Given the description of an element on the screen output the (x, y) to click on. 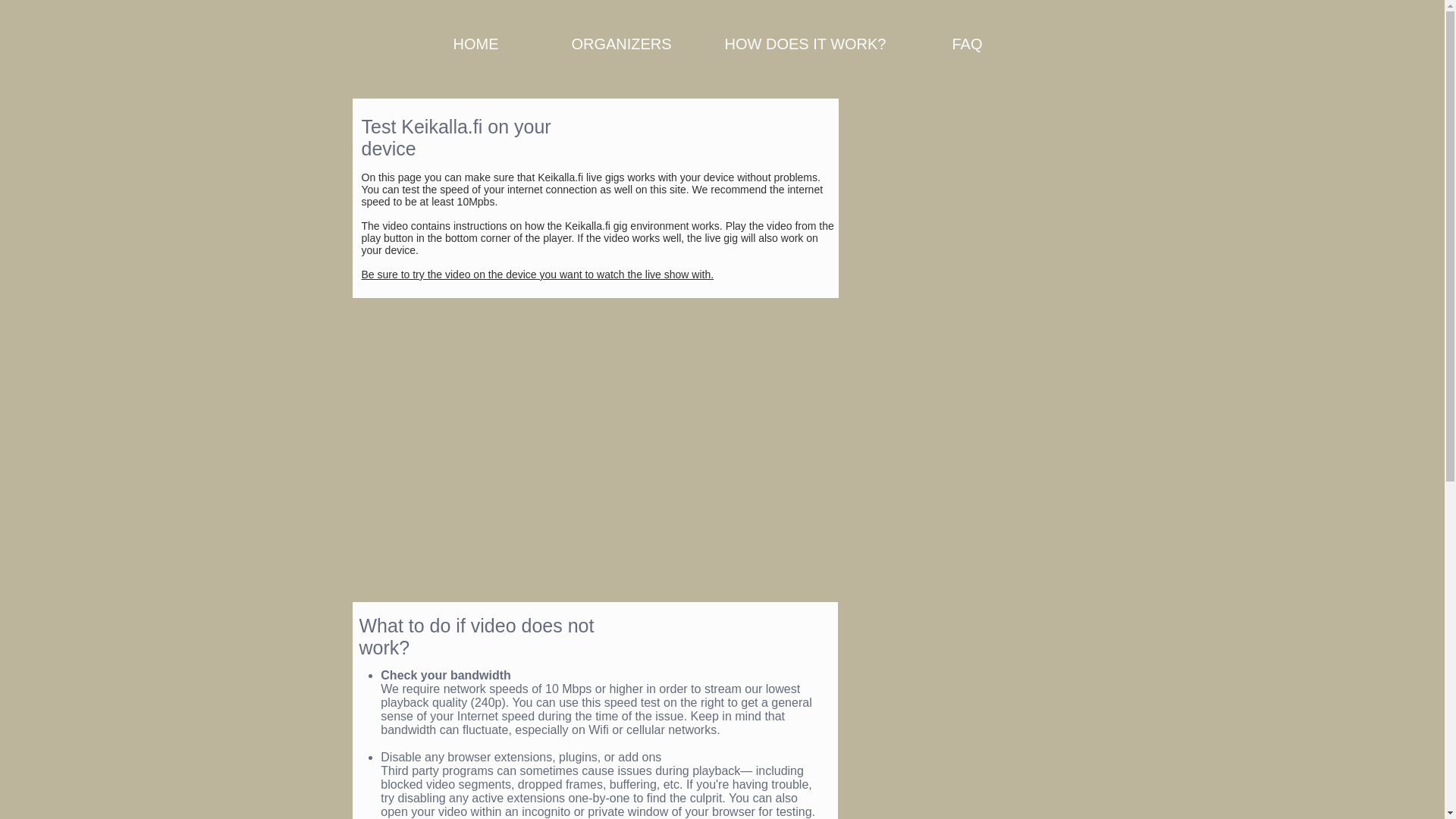
FAQ (967, 43)
HOME (475, 43)
HOW DOES IT WORK? (804, 43)
